Given the description of an element on the screen output the (x, y) to click on. 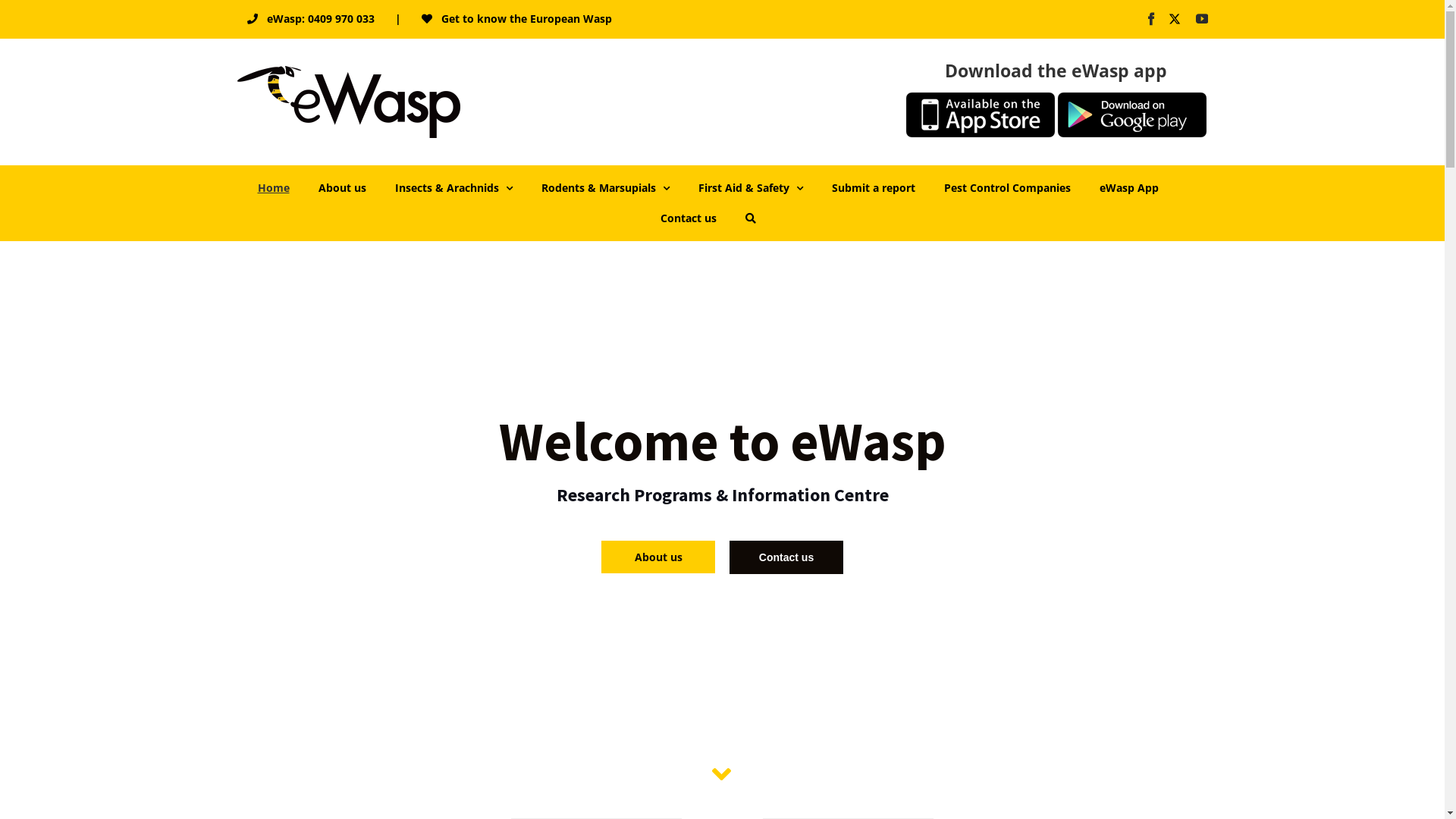
Insects & Arachnids Element type: text (452, 187)
Submit a report Element type: text (872, 187)
Get to know the European Wasp Element type: text (516, 18)
| Element type: text (398, 18)
About us Element type: text (342, 187)
eWasp App Element type: text (1128, 187)
eWasp: 0409 970 033 Element type: text (309, 18)
Rodents & Marsupials Element type: text (605, 187)
Contact us Element type: text (786, 557)
YouTube Element type: text (1201, 18)
About us Element type: text (658, 556)
Pest Control Companies Element type: text (1006, 187)
Contact us Element type: text (687, 218)
Twitter Element type: text (1176, 18)
Facebook Element type: text (1151, 18)
Home Element type: text (273, 187)
First Aid & Safety Element type: text (749, 187)
